Given the description of an element on the screen output the (x, y) to click on. 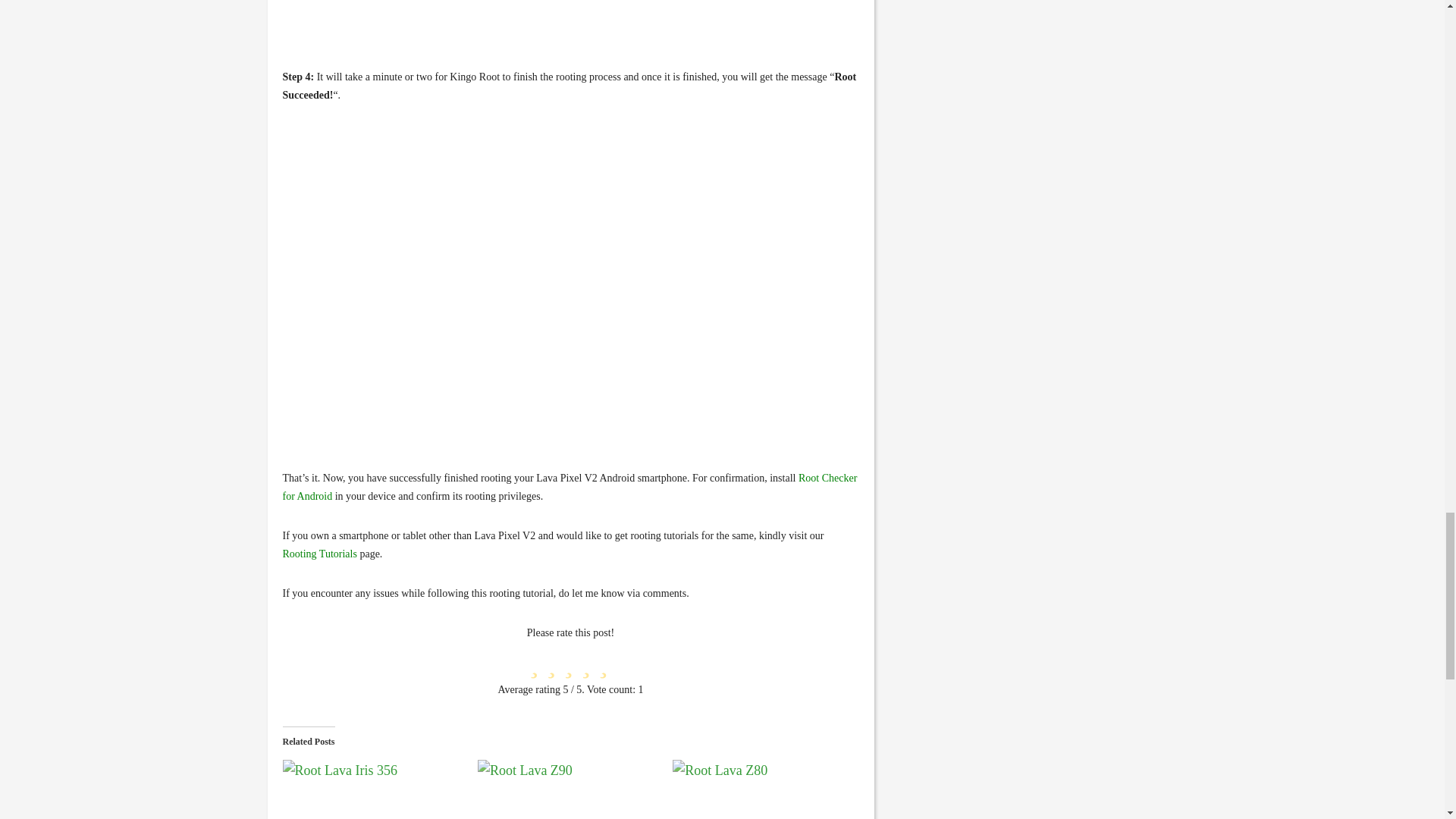
How To Root Lava Z80 Android Smartphone (761, 789)
How To Root Lava Z90 Android Smartphone (567, 789)
How To Root Lava Iris 356 Smartphone Without PC (371, 789)
Root Checker for Android (569, 487)
Rooting Tutorials (319, 553)
